Given the description of an element on the screen output the (x, y) to click on. 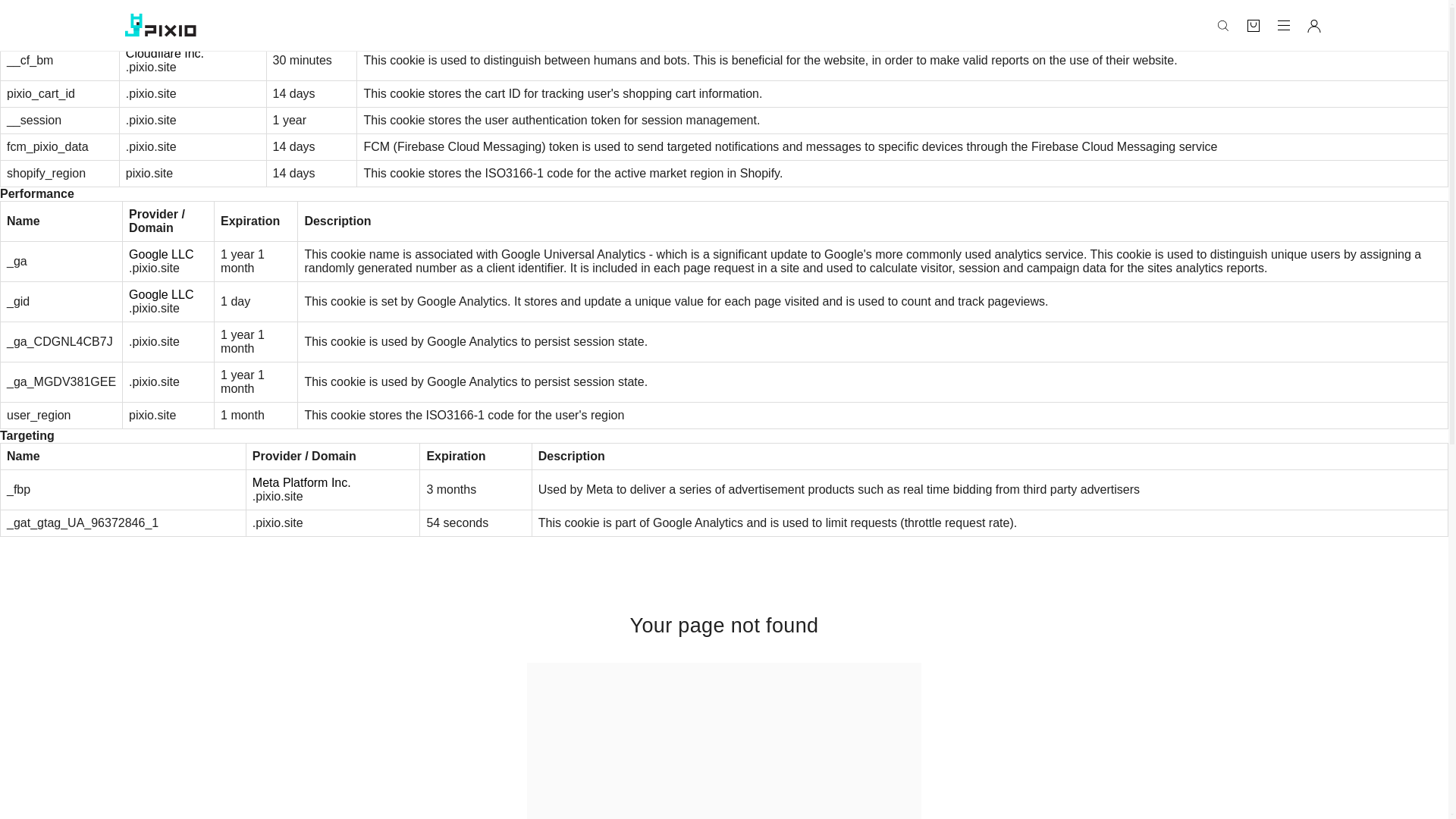
Cloudflare Inc. (164, 52)
Meta Platform Inc. (300, 481)
Google LLC (161, 294)
Google LLC (161, 254)
